Given the description of an element on the screen output the (x, y) to click on. 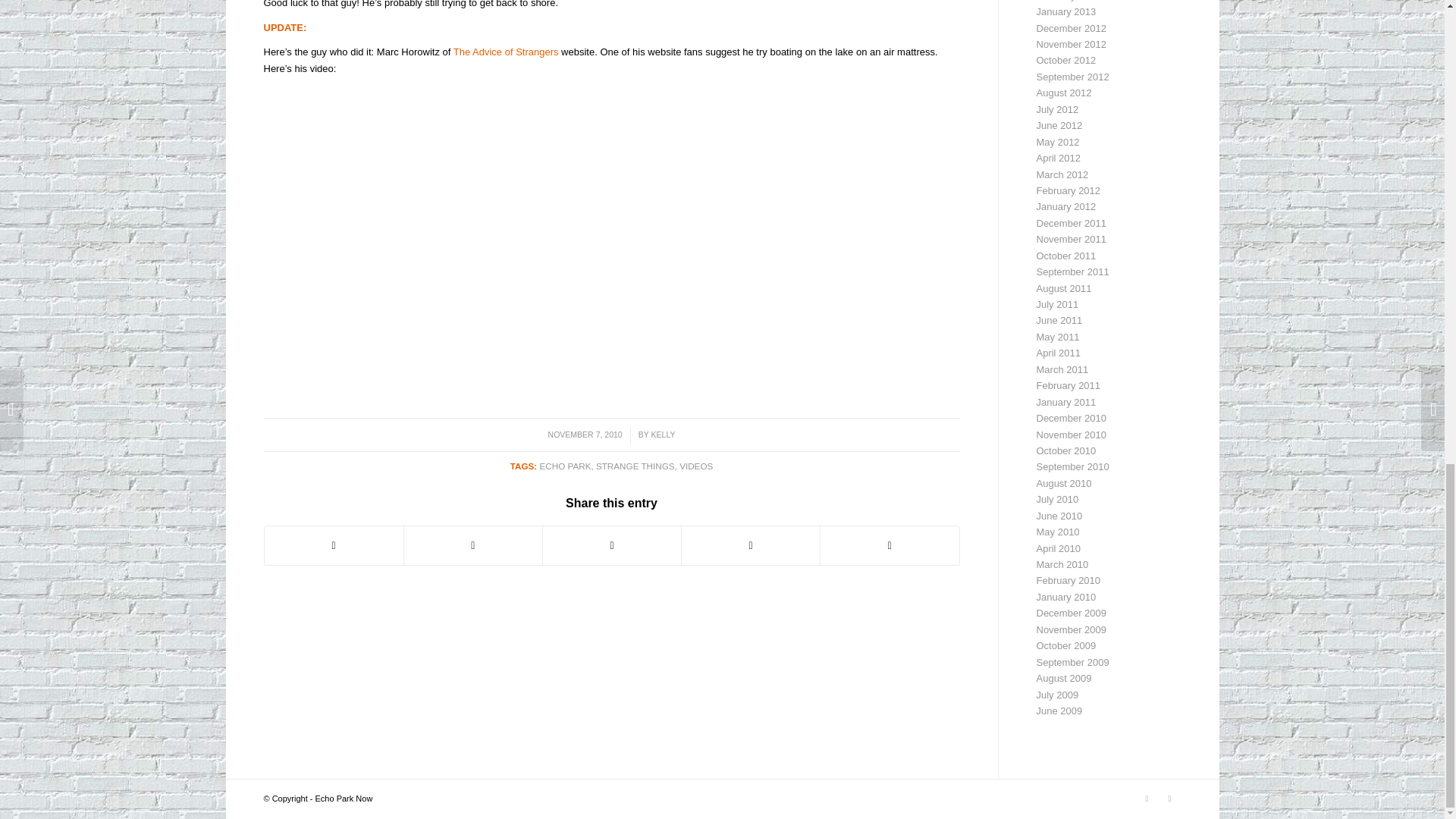
ECHO PARK (564, 465)
VIDEOS (696, 465)
The Advice of Strangers (505, 51)
STRANGE THINGS (635, 465)
KELLY (662, 433)
Posts by Kelly (662, 433)
